Given the description of an element on the screen output the (x, y) to click on. 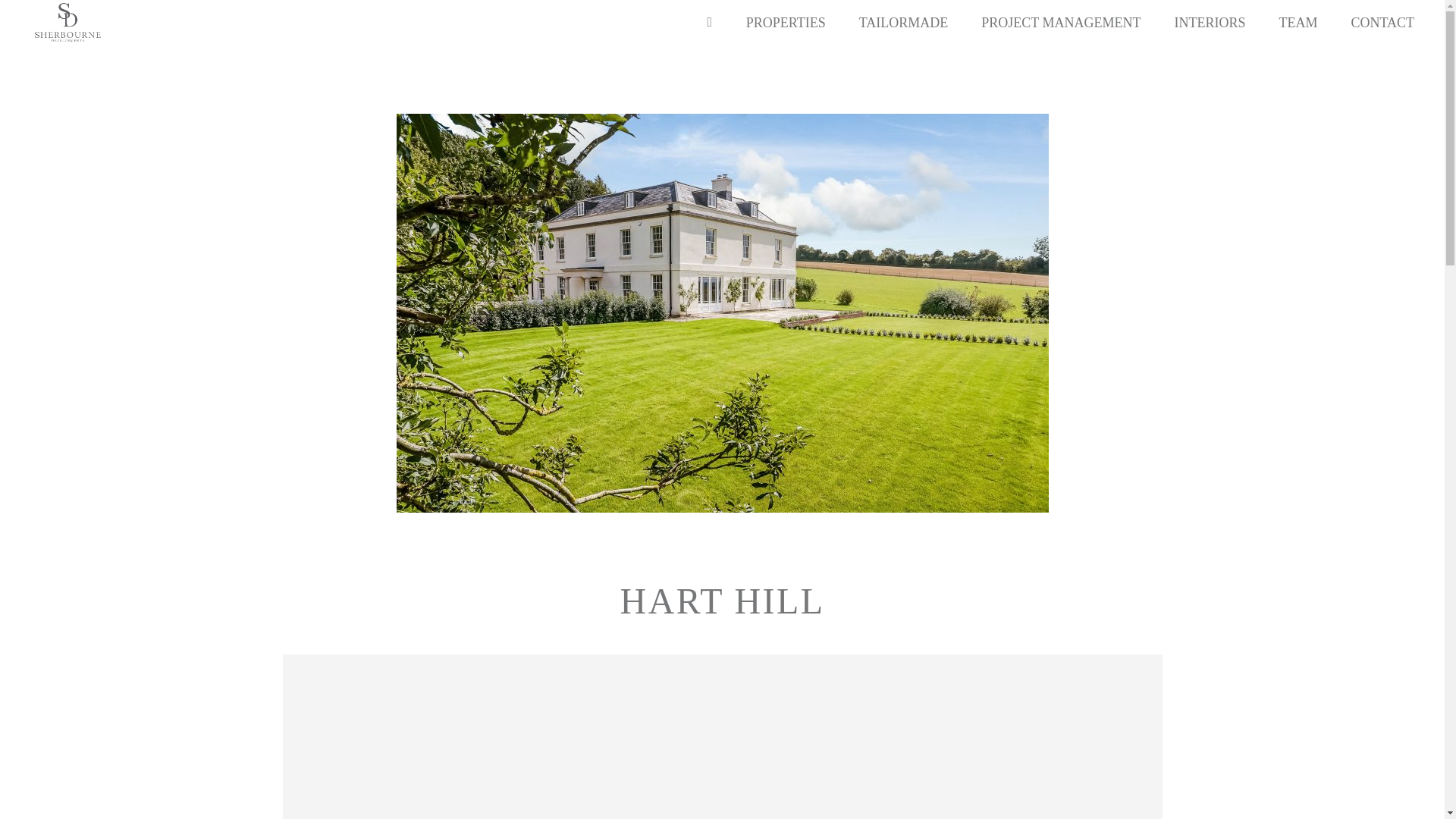
TAILORMADE (903, 22)
PROJECT MANAGEMENT (1061, 22)
PROPERTIES (785, 22)
CONTACT (1374, 22)
TEAM (1297, 22)
INTERIORS (1209, 22)
